Given the description of an element on the screen output the (x, y) to click on. 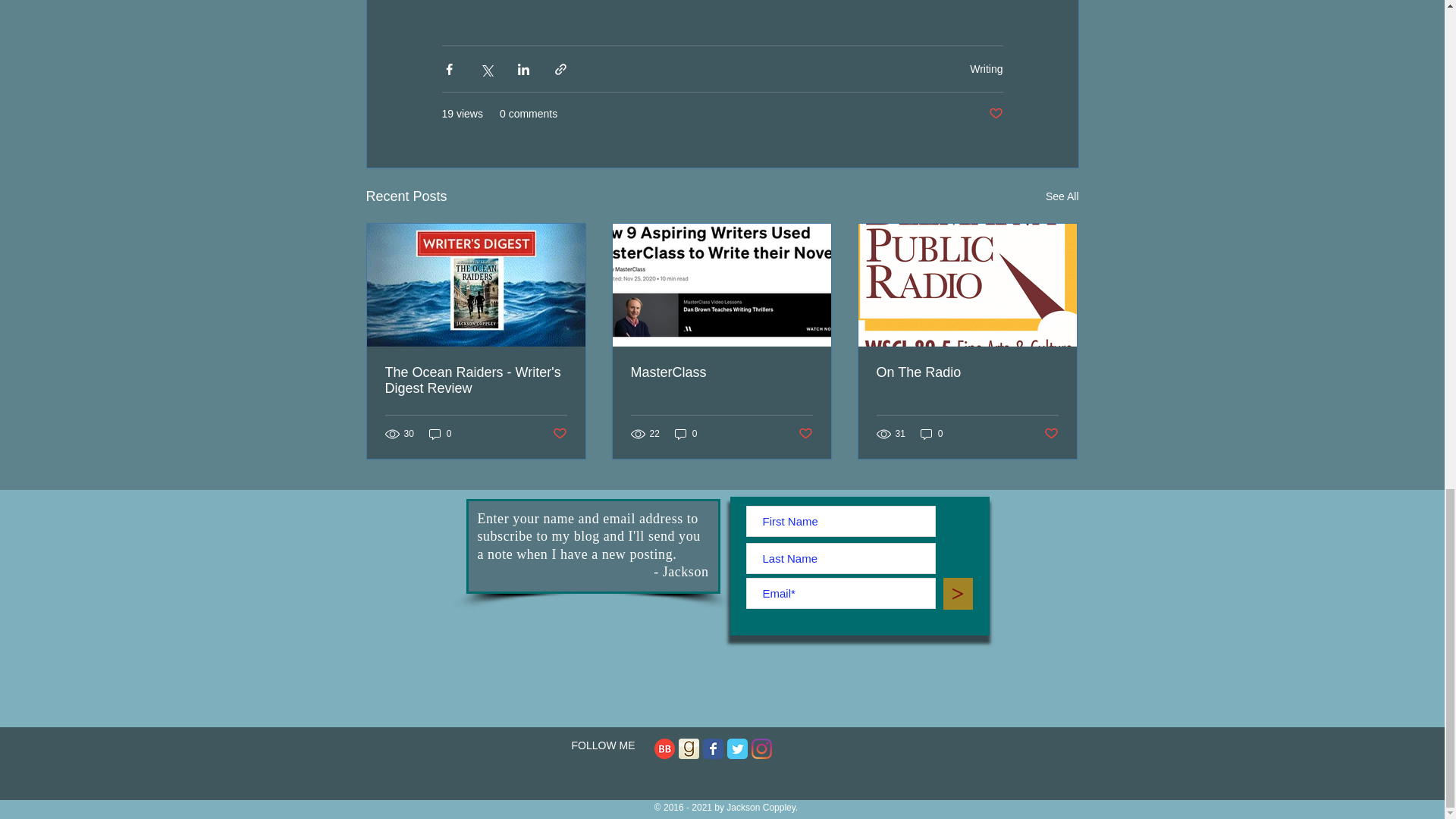
See All (1061, 196)
0 (440, 433)
Post not marked as liked (558, 433)
0 (685, 433)
Writing (986, 69)
MasterClass (721, 372)
The Ocean Raiders - Writer's Digest Review (476, 380)
Post not marked as liked (804, 433)
On The Radio (967, 372)
Post not marked as liked (995, 114)
